Given the description of an element on the screen output the (x, y) to click on. 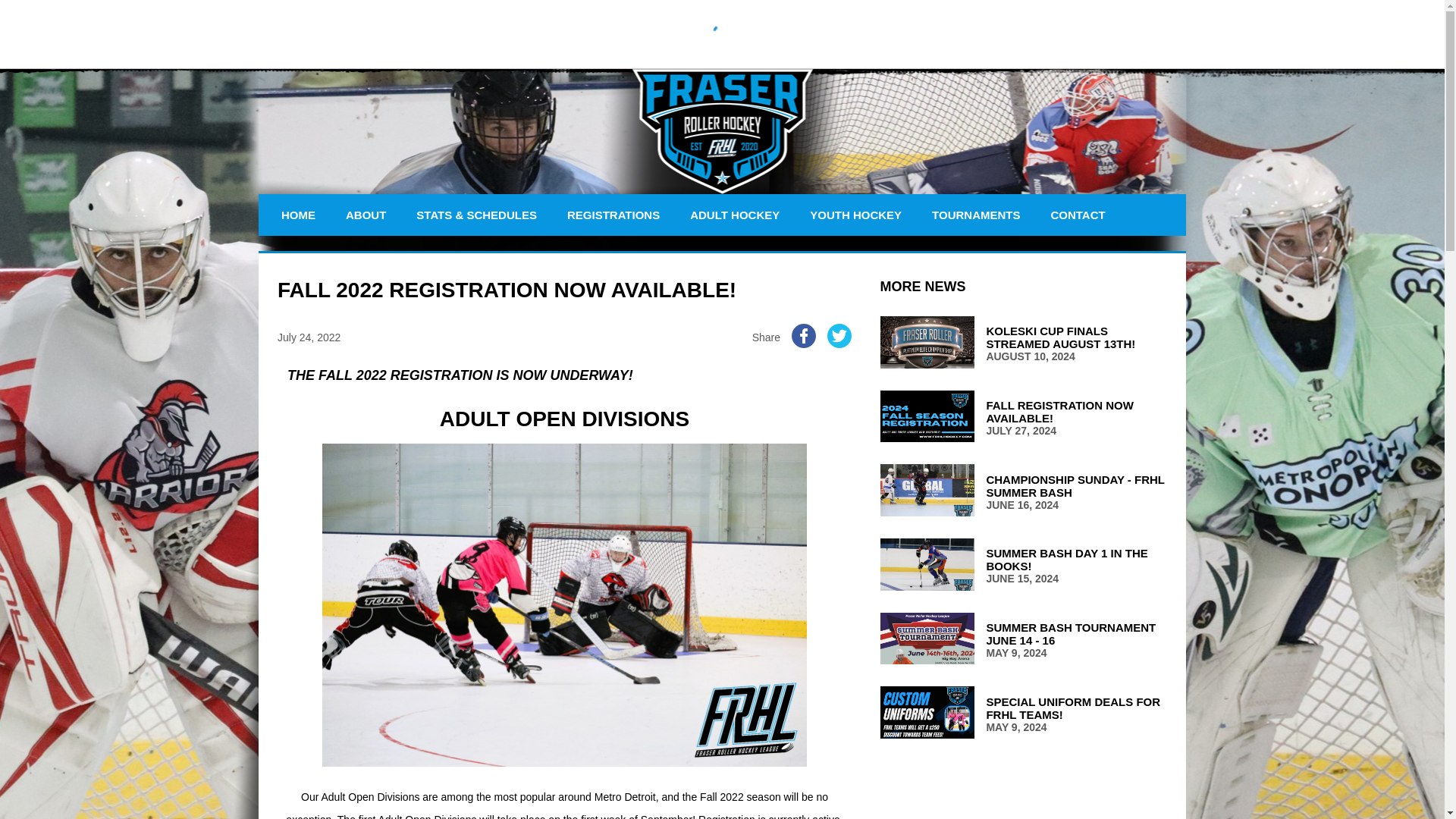
HOME (297, 214)
TOURNAMENTS (1023, 417)
CONTACT (975, 214)
